Given the description of an element on the screen output the (x, y) to click on. 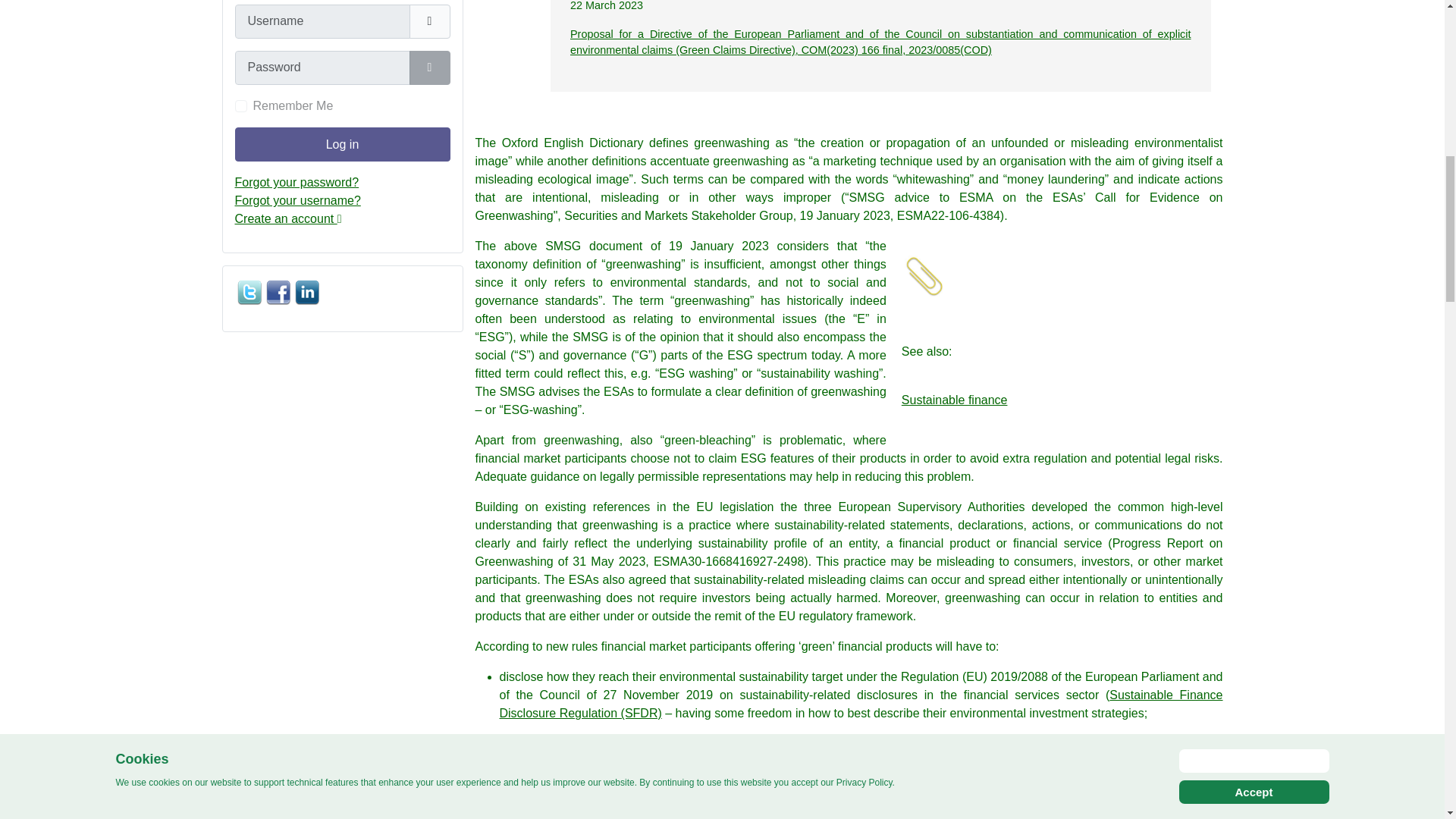
Forgot your username? (297, 200)
Log in (341, 144)
Username (429, 21)
Show Password (429, 67)
Create an account (288, 218)
Forgot your password? (296, 182)
yes (240, 105)
